Given the description of an element on the screen output the (x, y) to click on. 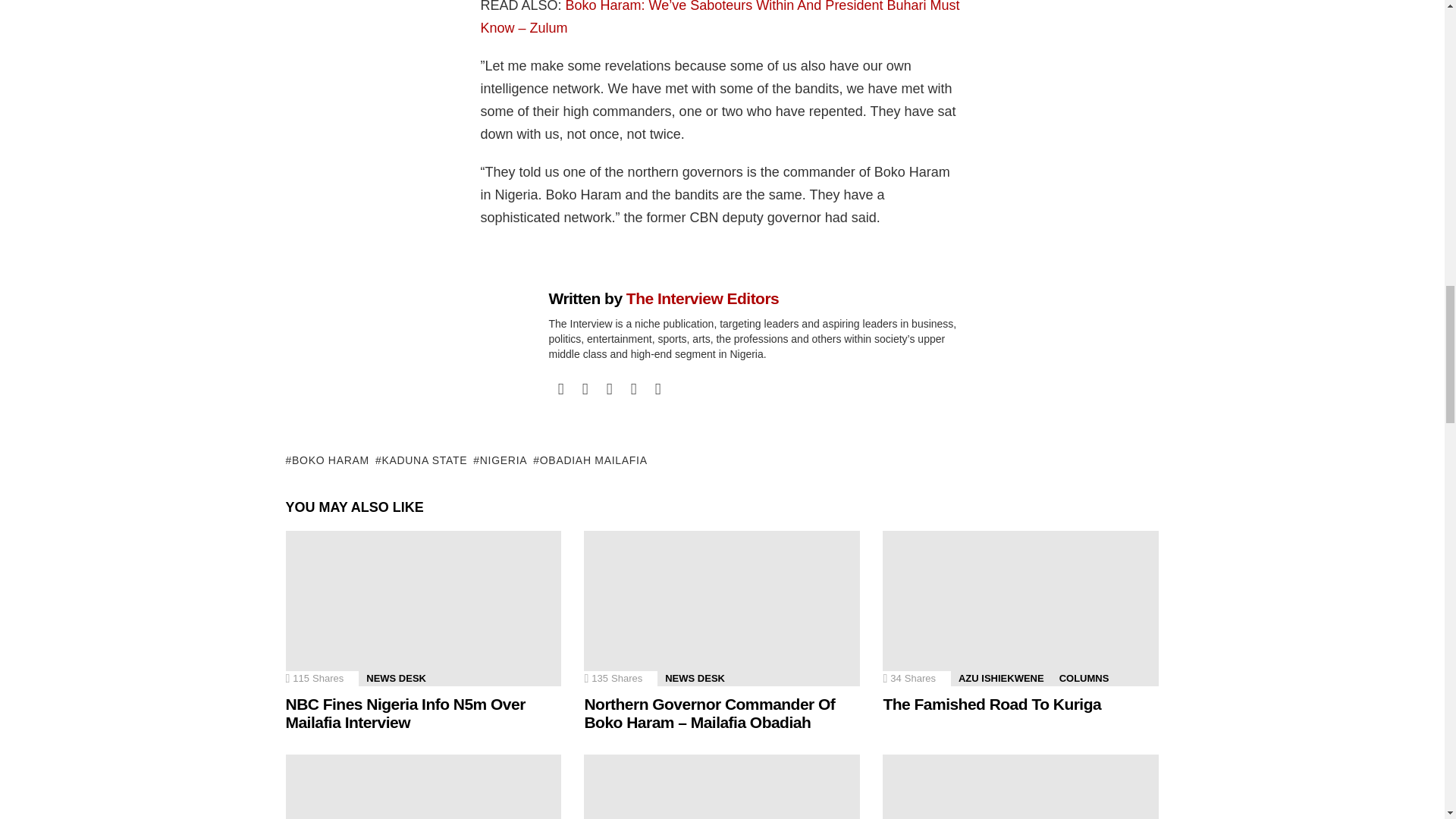
youtube (657, 388)
instagram (608, 388)
BOKO HARAM (326, 459)
facebook (560, 388)
The Famished Road To Kuriga (1020, 608)
NBC Fines Nigeria Info N5m Over Mailafia Interview (422, 608)
linkedin (633, 388)
twitter (584, 388)
The Interview Editors (702, 298)
